Given the description of an element on the screen output the (x, y) to click on. 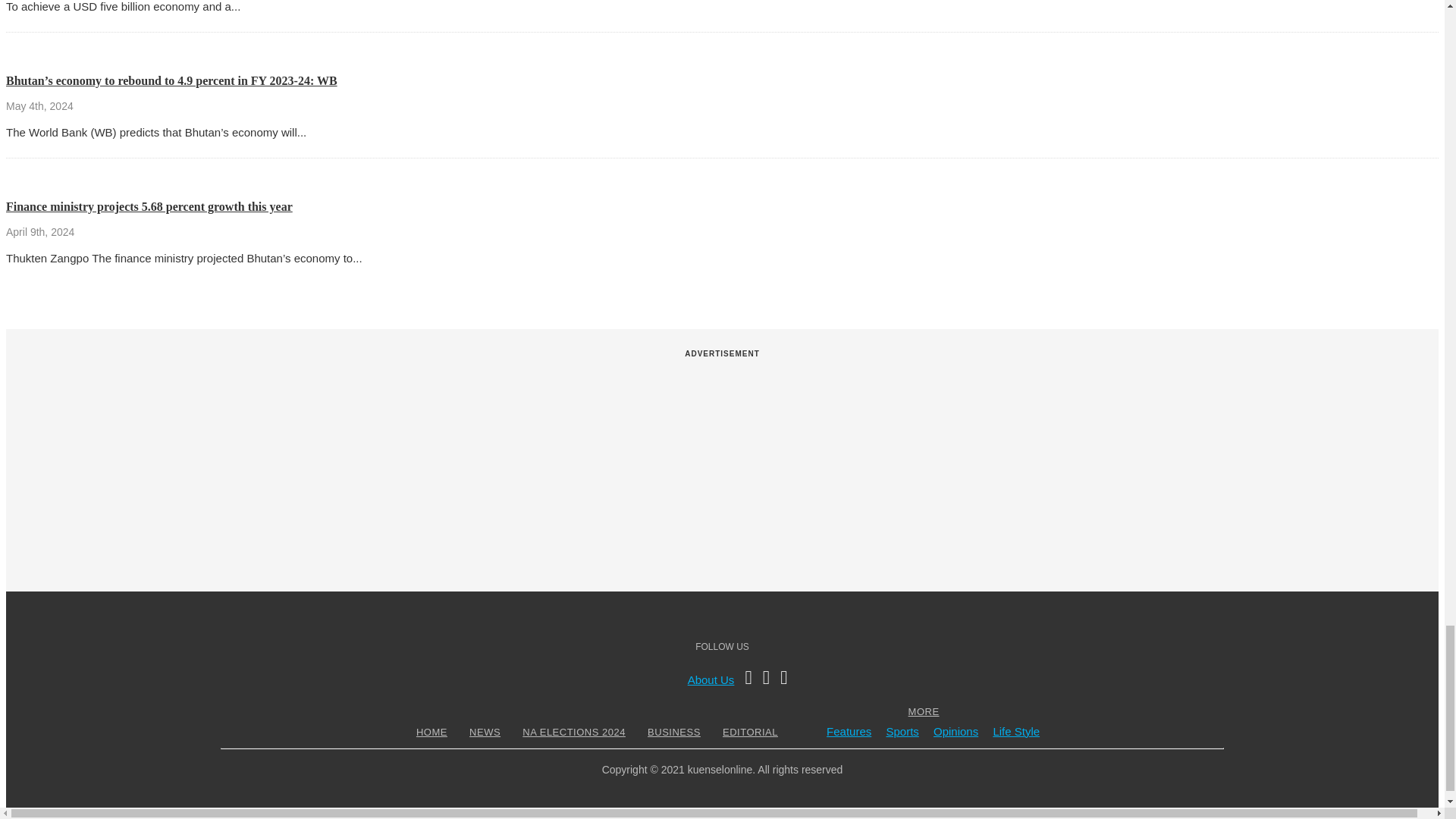
MORE (923, 711)
BUSINESS (673, 731)
NA ELECTIONS 2024 (573, 731)
Finance ministry projects 5.68 percent growth this year (148, 205)
NEWS (484, 731)
HOME (431, 731)
About Us (711, 679)
EDITORIAL (750, 731)
